Given the description of an element on the screen output the (x, y) to click on. 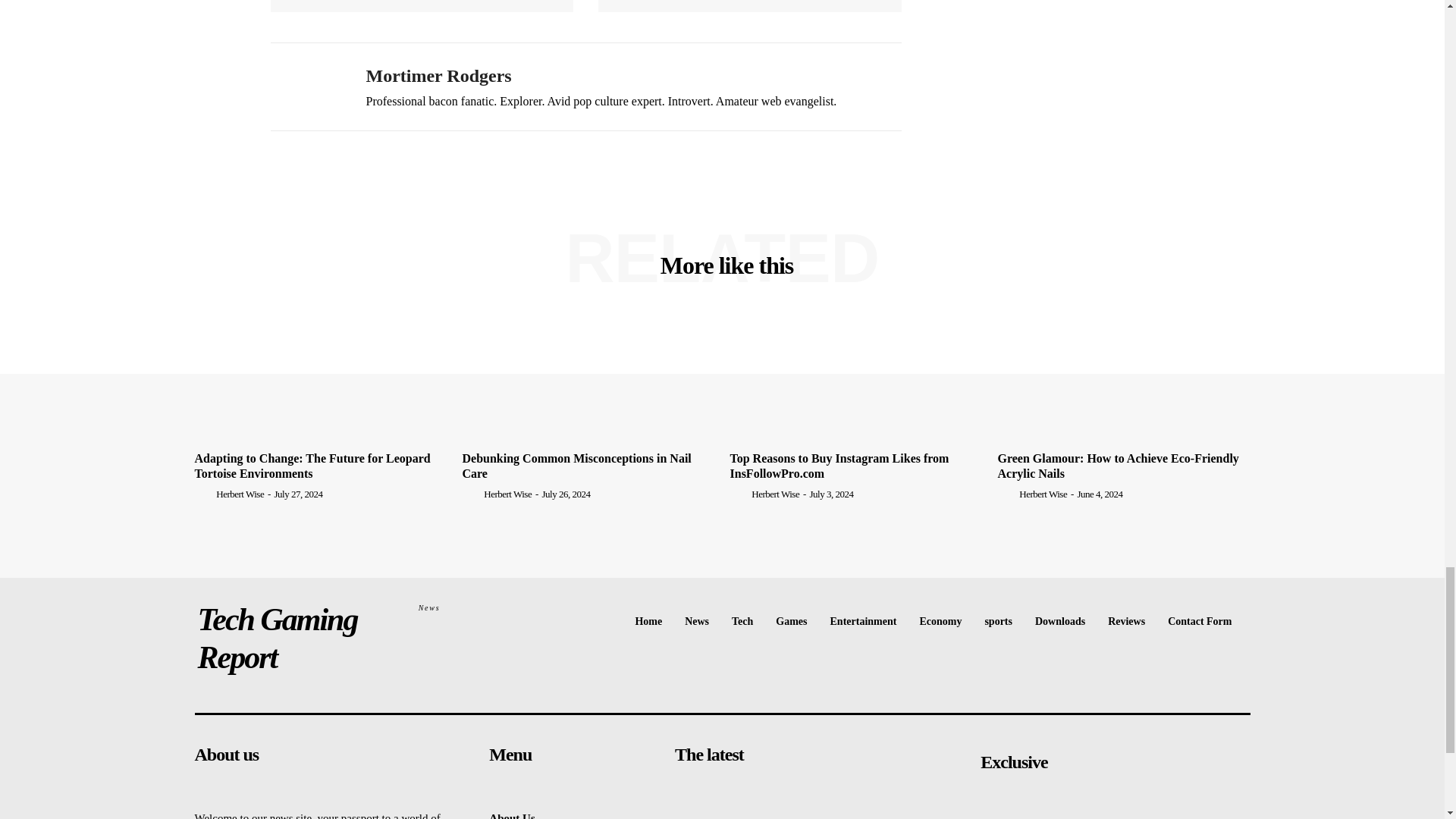
Mortimer Rodgers (305, 86)
